Given the description of an element on the screen output the (x, y) to click on. 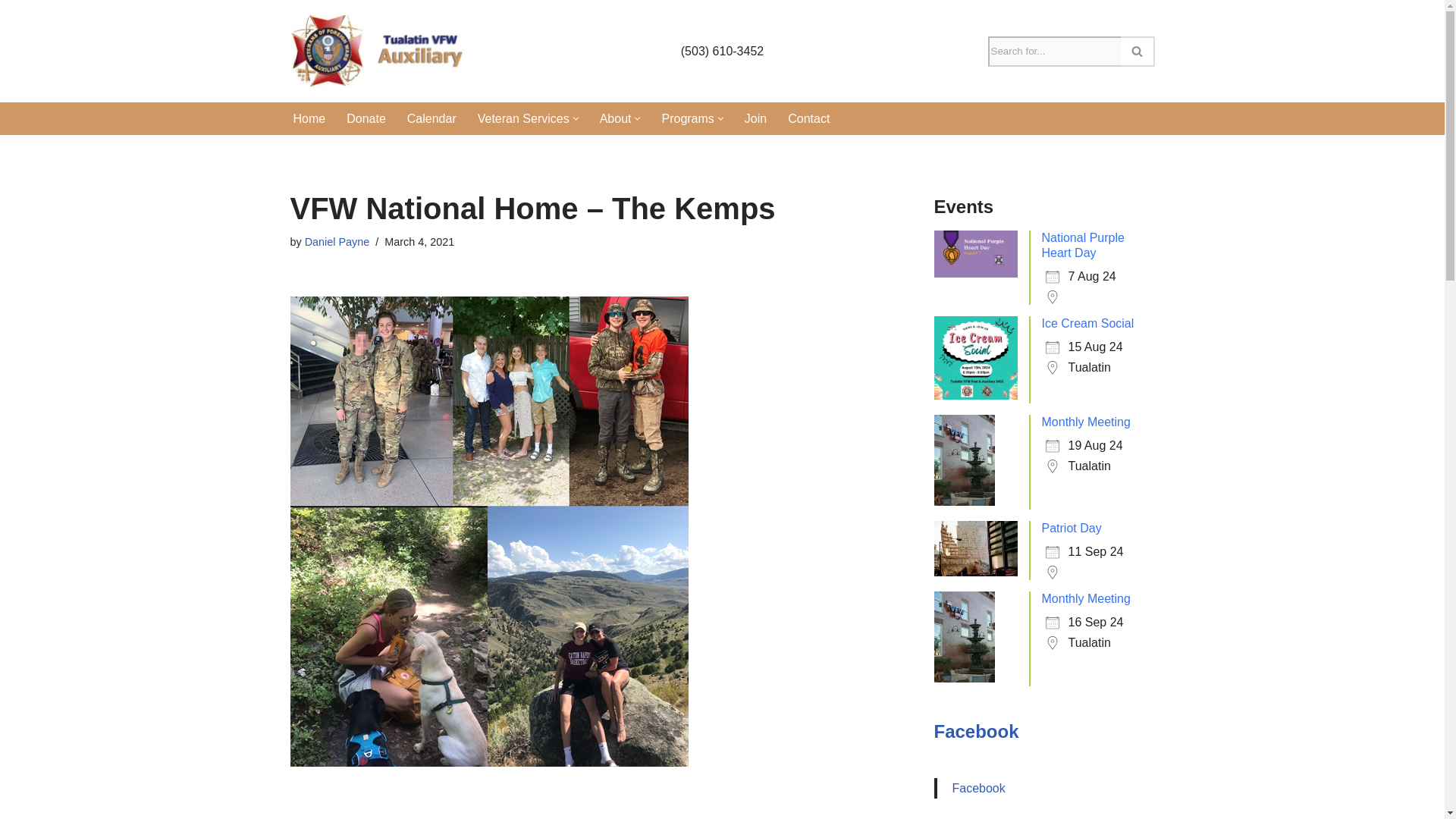
Veteran Services (523, 118)
Join (755, 118)
Posts by Daniel Payne (336, 241)
Donate (365, 118)
Skip to content (11, 31)
Contact (808, 118)
About (615, 118)
Calendar (432, 118)
Programs (687, 118)
Home (308, 118)
